Given the description of an element on the screen output the (x, y) to click on. 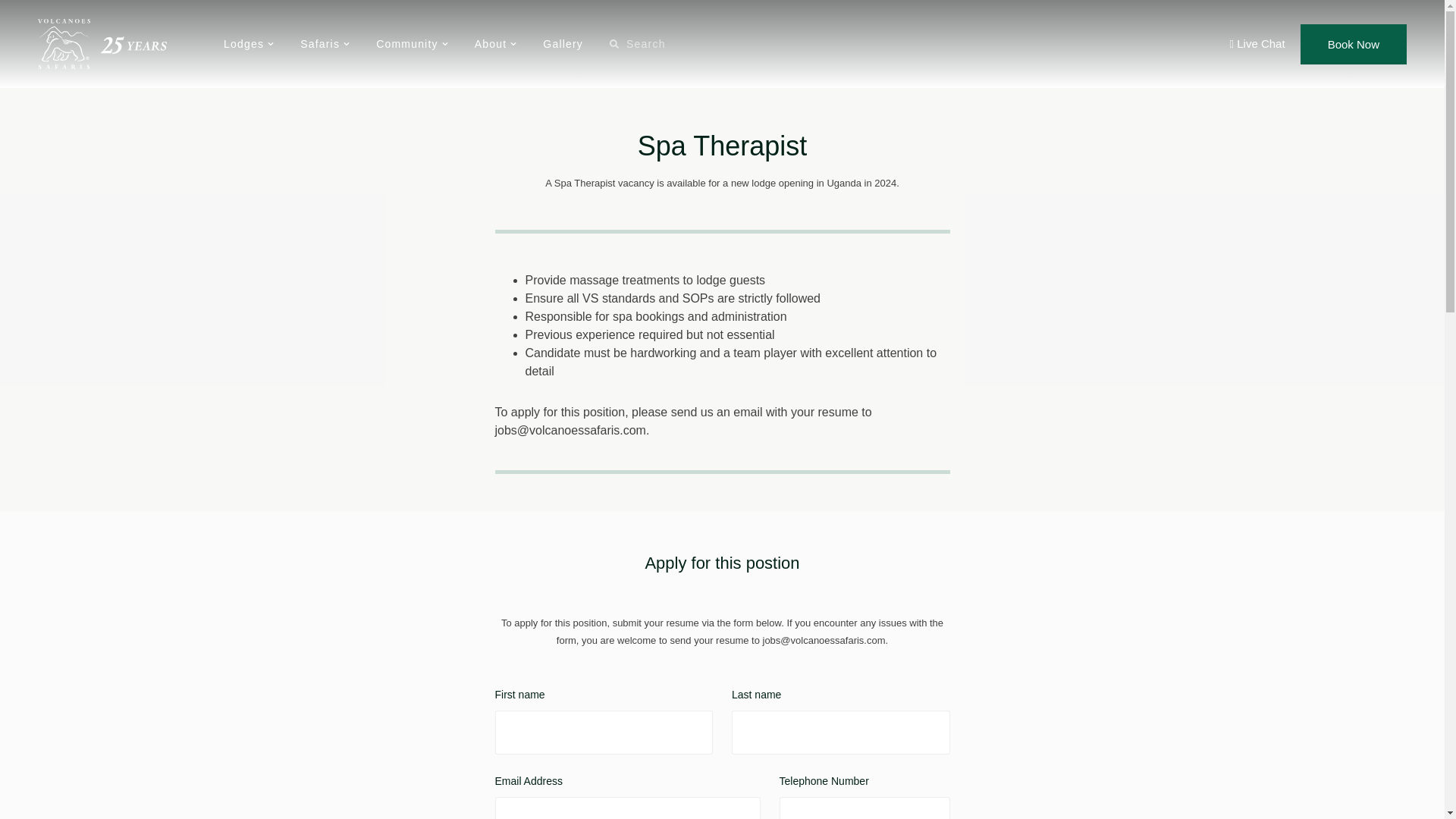
Gallery (563, 44)
About (495, 44)
Community (411, 44)
Lodges (248, 44)
Safaris (324, 44)
